Given the description of an element on the screen output the (x, y) to click on. 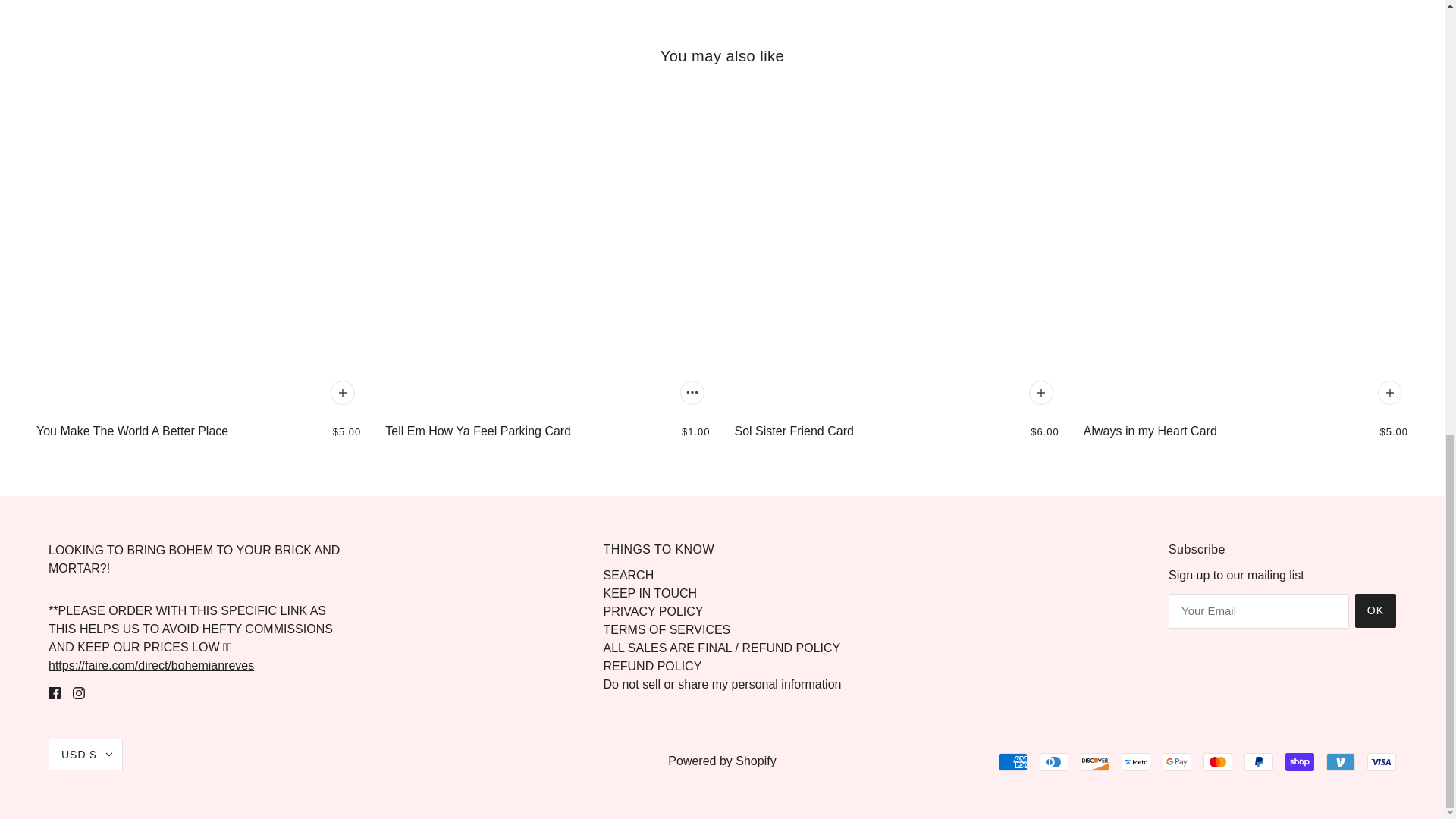
Shop Pay (1299, 761)
KEEP IN TOUCH (650, 593)
Mastercard (1217, 761)
PayPal (1258, 761)
American Express (1012, 761)
Discover (1094, 761)
Venmo (1340, 761)
PRIVACY POLICY  (653, 611)
TERMS OF SERVICES (667, 629)
Google Pay (1176, 761)
REFUND POLICY (652, 666)
SEARCH (628, 574)
Do not sell or share my personal information (722, 684)
Diners Club (1053, 761)
Meta Pay (1135, 761)
